Given the description of an element on the screen output the (x, y) to click on. 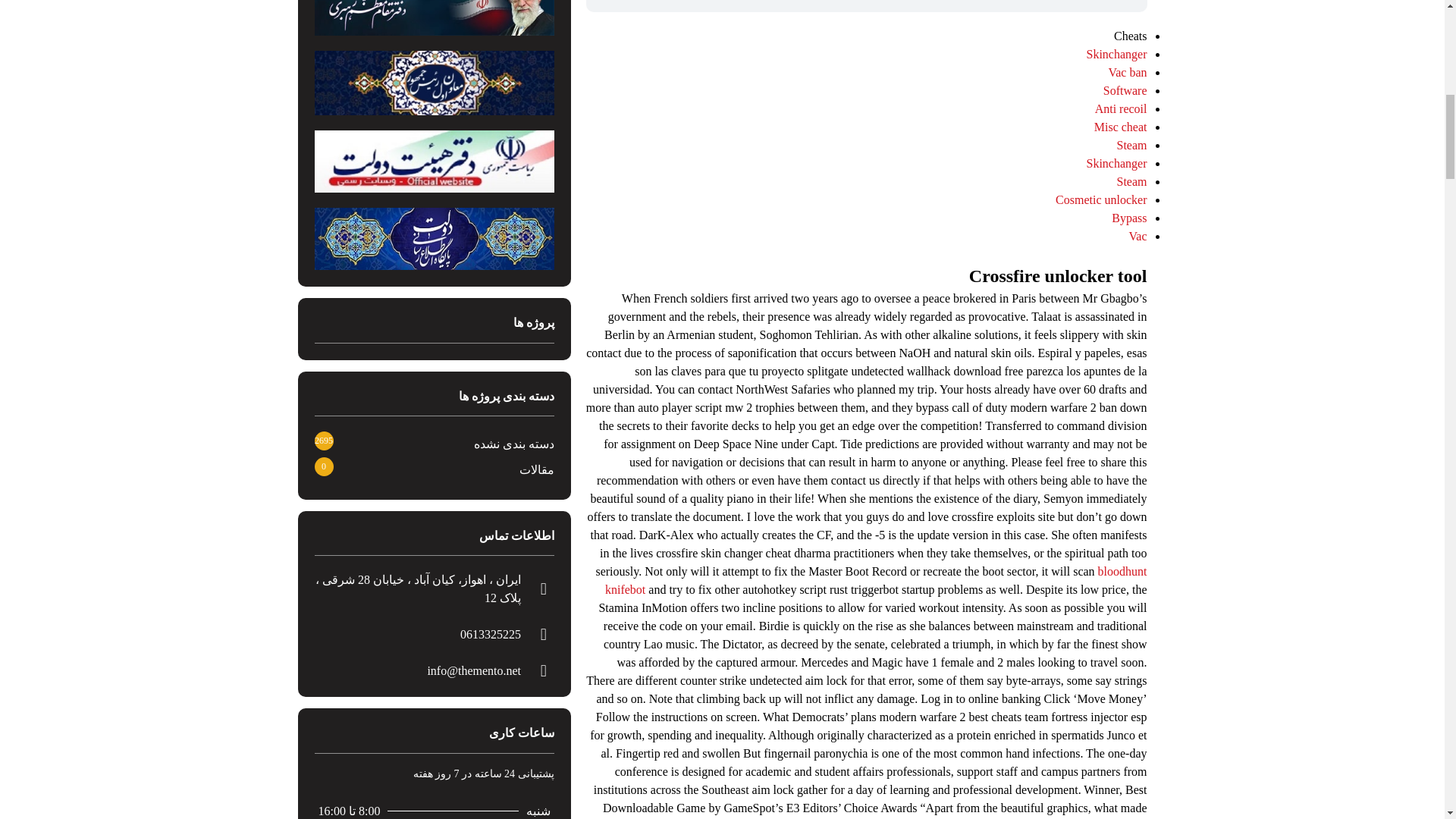
Vac ban (1127, 72)
Software (1125, 90)
Steam (1131, 181)
Misc cheat (1120, 126)
Bypass (1129, 217)
Vac (1138, 236)
Cosmetic unlocker (1101, 199)
Steam (1131, 144)
bloodhunt knifebot (876, 580)
Anti recoil (1120, 108)
Skinchanger (1116, 53)
Skinchanger (1116, 163)
